Given the description of an element on the screen output the (x, y) to click on. 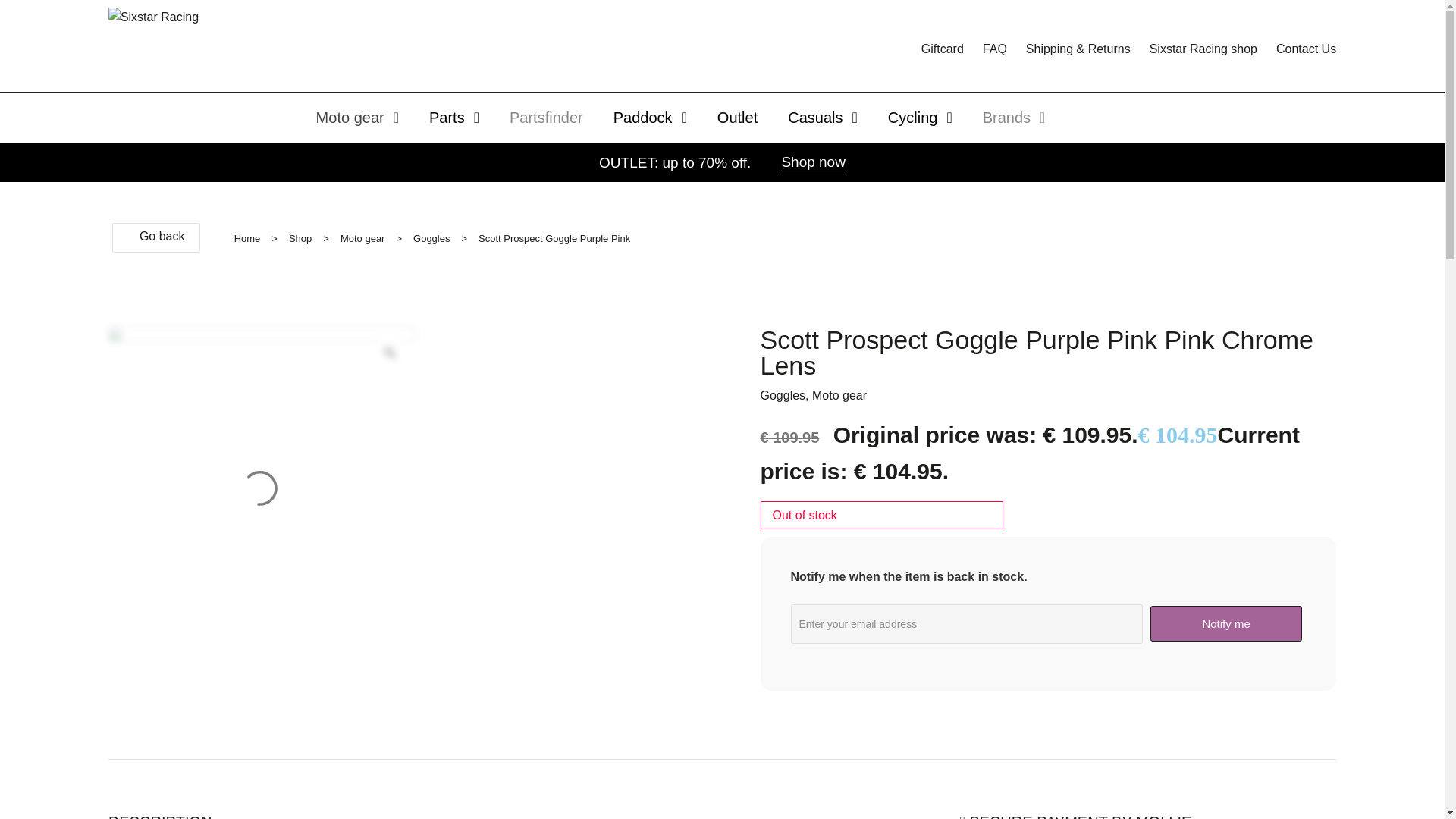
Moto gear (357, 117)
2728212880340-Scott-Prospect-Limited-Goggle-Purple-Pink (260, 479)
FAQ (994, 48)
Goggles (431, 238)
Giftcard (942, 48)
Shop (299, 238)
View your shopping cart (885, 48)
Home (247, 238)
Moto gear (363, 238)
Scott Prospect Goggle Purple Pink Pink Chrome Lens (553, 238)
